Given the description of an element on the screen output the (x, y) to click on. 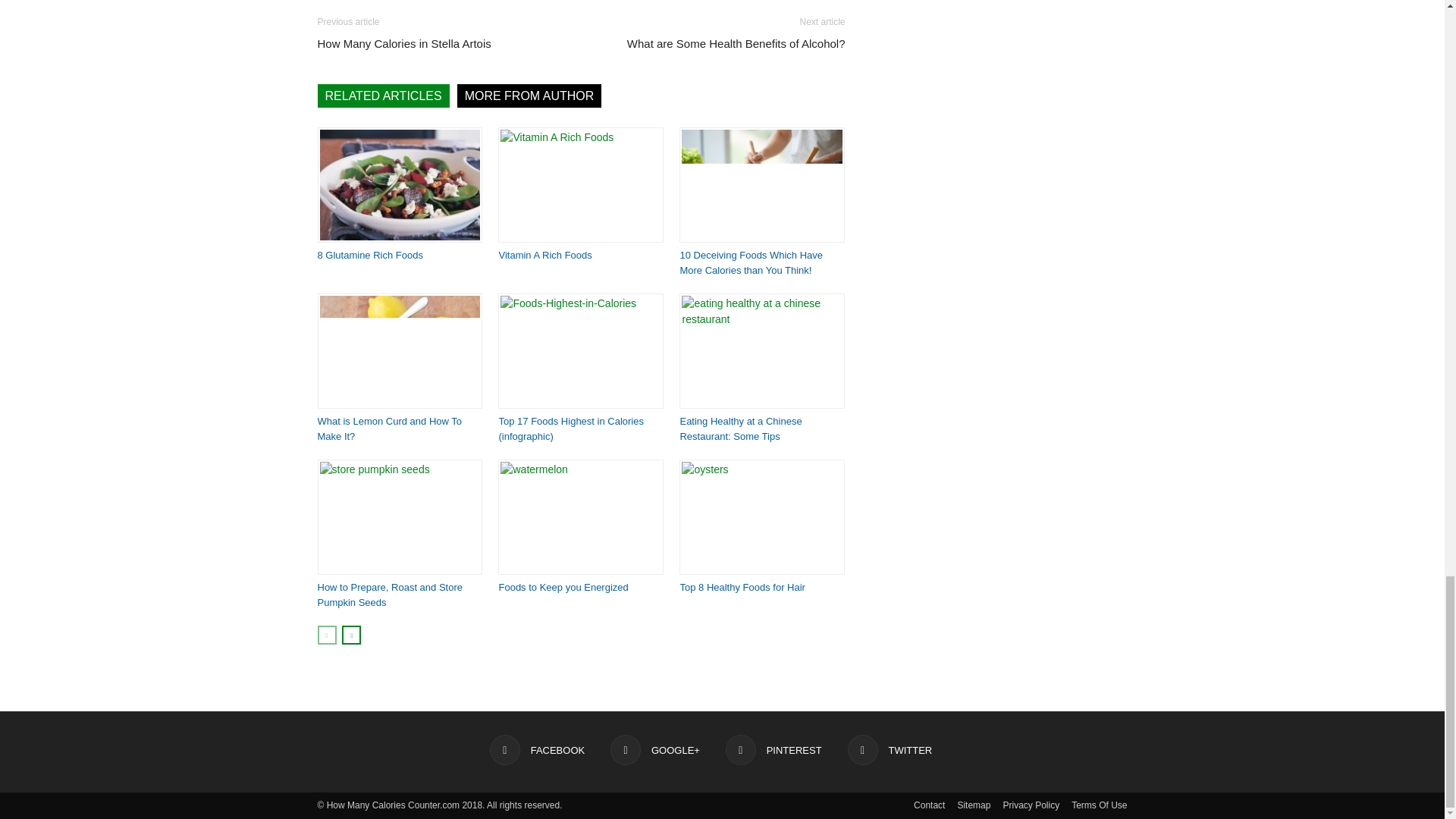
How Many Calories in Stella Artois (403, 43)
Vitamin A Rich Foods (580, 184)
8 Glutamine Rich Foods (369, 255)
RELATED ARTICLES (382, 95)
Vitamin A Rich Foods (544, 255)
8 Glutamine Rich Foods (399, 184)
10 Deceiving Foods Which Have More Calories than You Think! (750, 262)
10 Deceiving Foods Which Have More Calories than You Think! (761, 184)
What are Some Health Benefits of Alcohol? (736, 43)
